Given the description of an element on the screen output the (x, y) to click on. 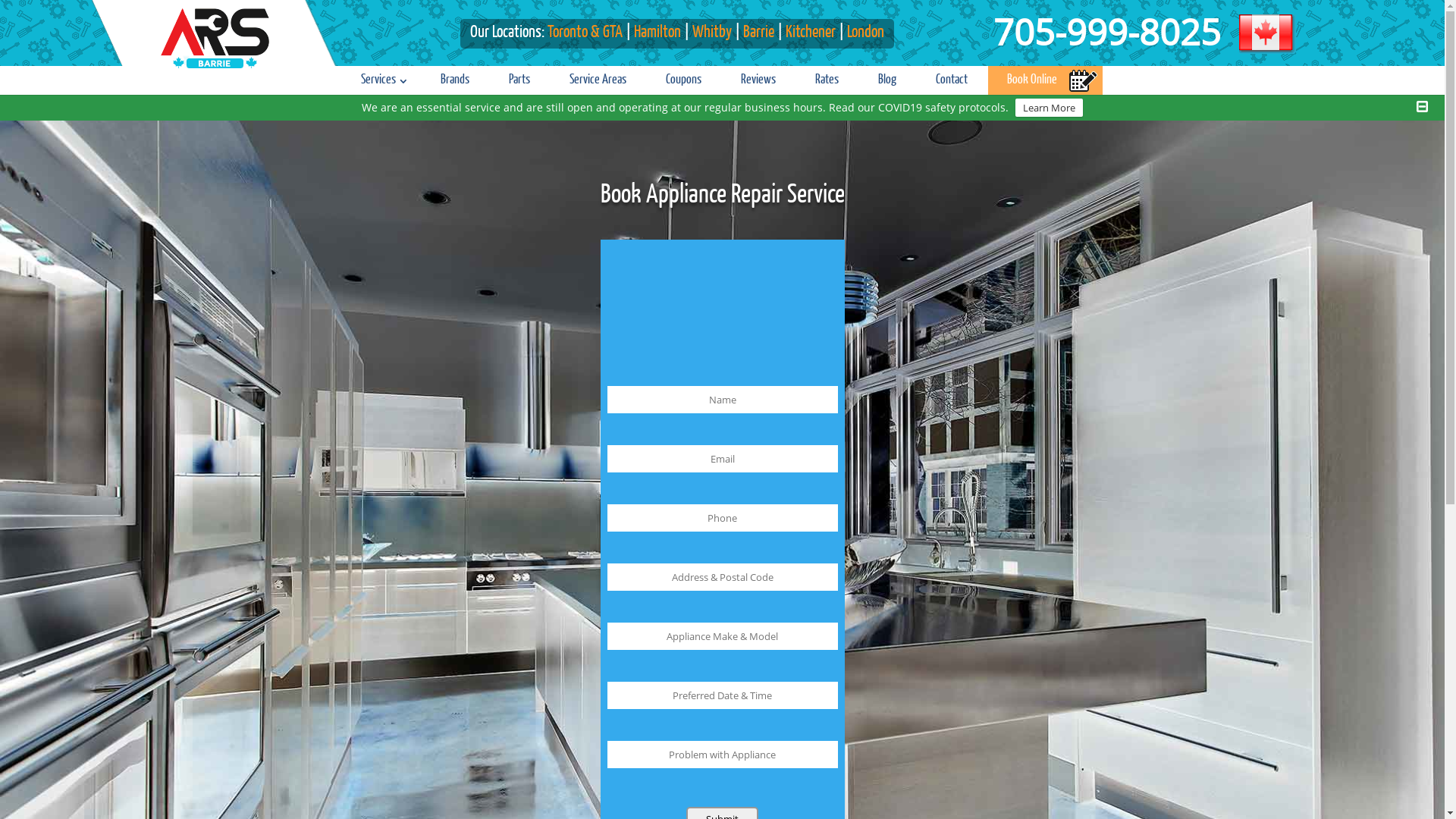
Book Online Element type: text (1032, 79)
Learn More Element type: text (1048, 107)
Kitchener Element type: text (810, 32)
Service Areas Element type: text (597, 79)
Coupons Element type: text (683, 79)
Toronto & GTA Element type: text (584, 32)
Reviews Element type: text (757, 79)
Services Element type: text (381, 79)
Contact Element type: text (951, 79)
London Element type: text (865, 32)
Barrie Element type: text (758, 32)
Rates Element type: text (826, 79)
Whitby Element type: text (711, 32)
Blog Element type: text (887, 79)
Parts Element type: text (519, 79)
Brands Element type: text (454, 79)
Hamilton Element type: text (656, 32)
705-999-8025 Element type: text (1154, 42)
